Given the description of an element on the screen output the (x, y) to click on. 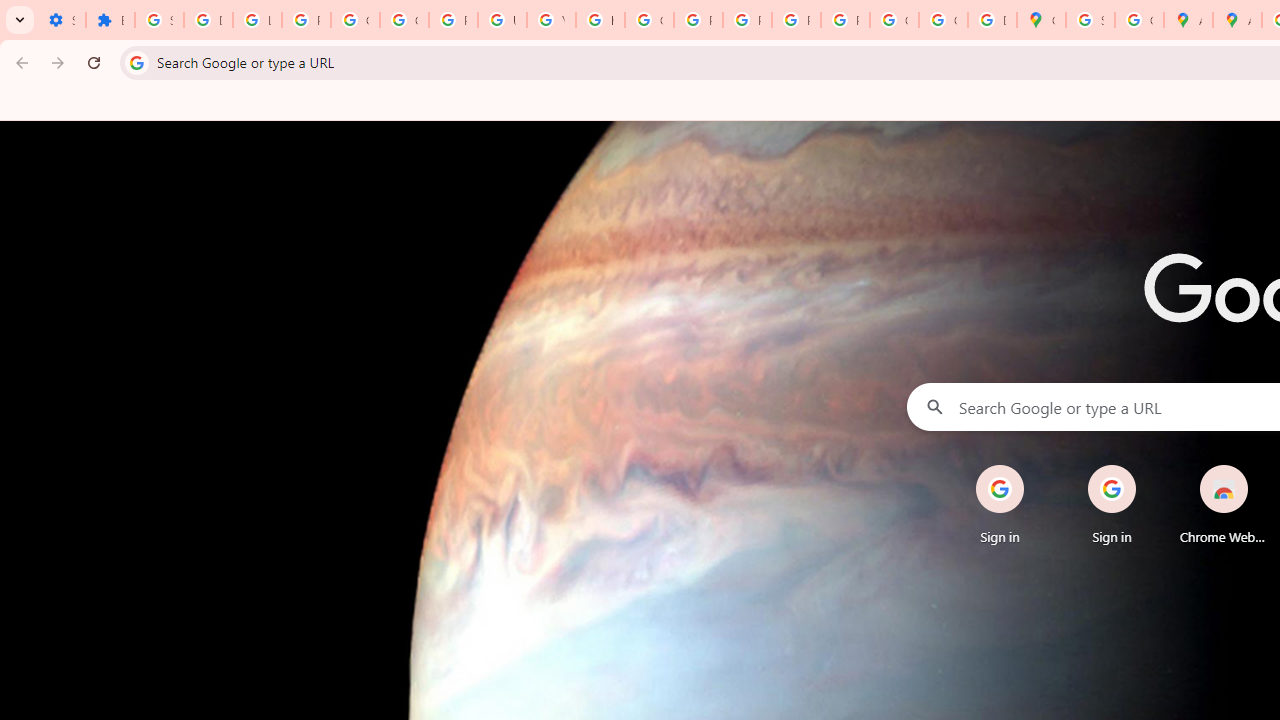
Delete photos & videos - Computer - Google Photos Help (208, 20)
